Given the description of an element on the screen output the (x, y) to click on. 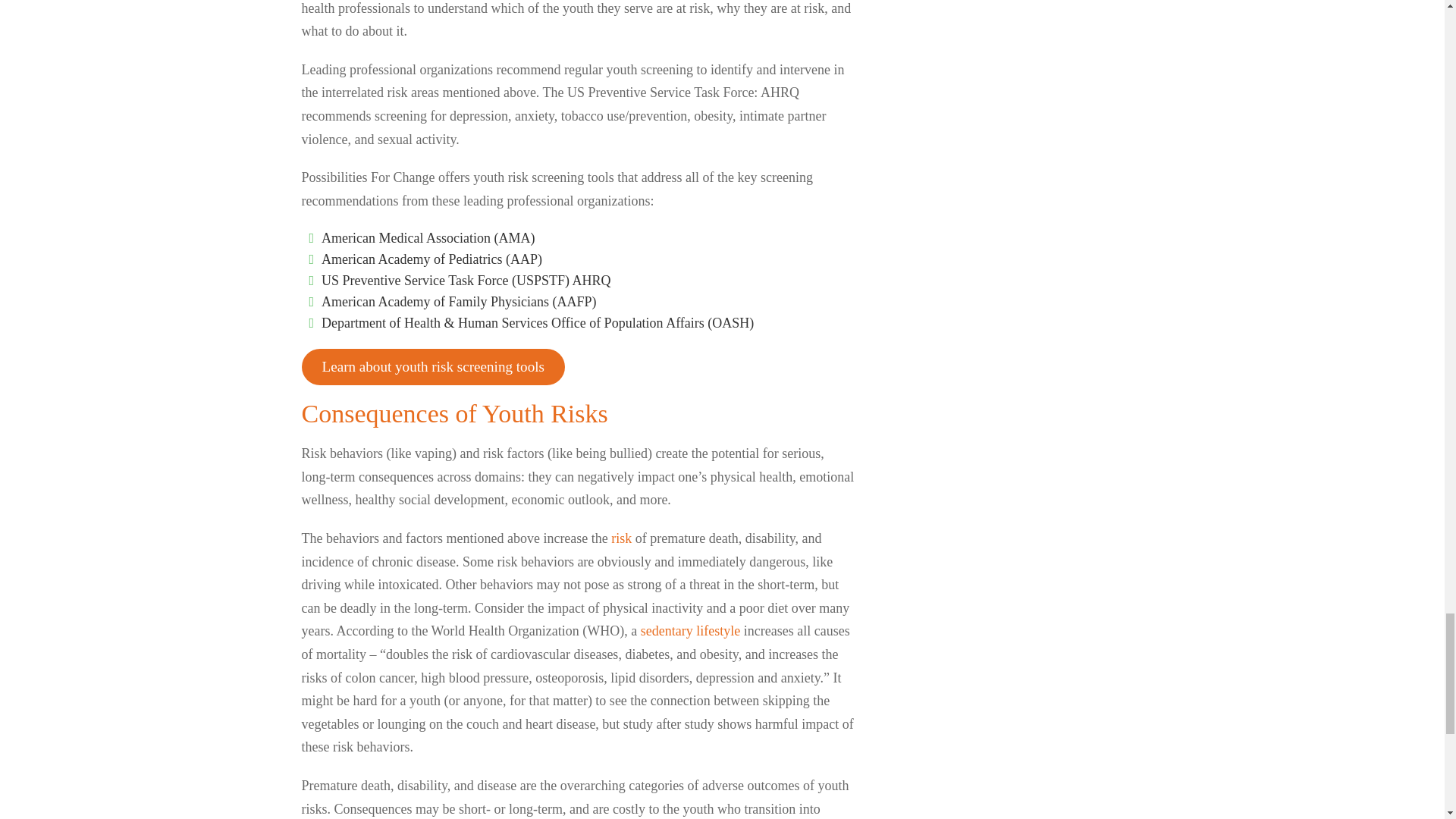
sedentary lifestyle (689, 630)
Learn about youth risk screening tools (432, 366)
risk (621, 538)
